Given the description of an element on the screen output the (x, y) to click on. 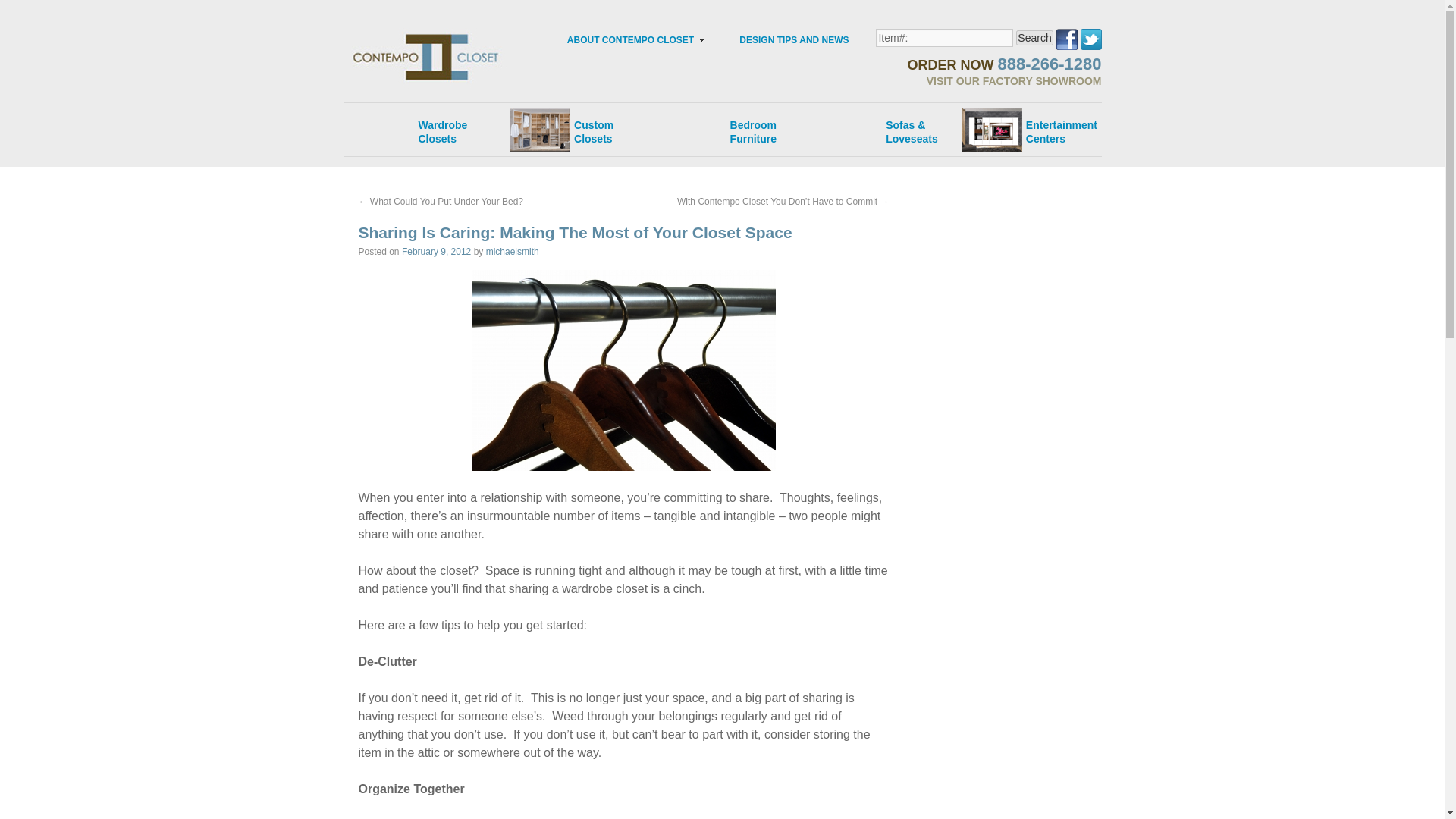
Search (1034, 37)
Twitter - Contempo Closet (1038, 124)
February 9, 2012 (1090, 37)
ORDER NOW 888-266-1280 (435, 251)
DESIGN TIPS AND NEWS (571, 124)
ABOUT CONTEMPO CLOSET (991, 79)
Search (793, 39)
DESIGN TIPS AND NEWS (629, 39)
ABOUT CONTEMPO CLOSET (1034, 37)
VISIT OUR FACTORY SHOWROOM (429, 124)
Facebook - Contempo Closet (793, 39)
